Given the description of an element on the screen output the (x, y) to click on. 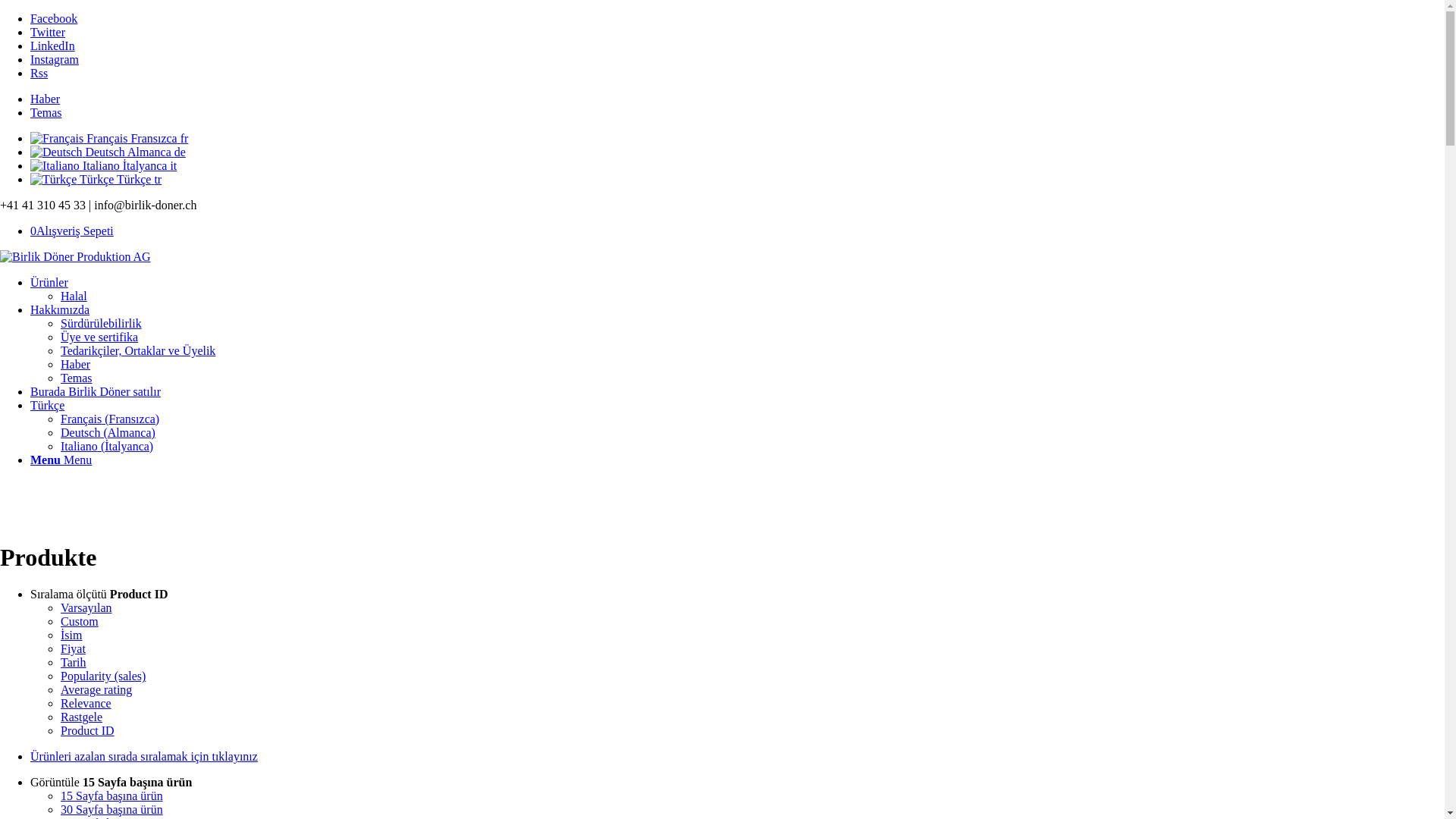
Facebook Element type: text (53, 18)
Menu Menu Element type: text (60, 459)
Twitter Element type: text (47, 31)
Rastgele Element type: text (81, 716)
Average rating Element type: text (95, 689)
Temas Element type: text (46, 112)
Fiyat Element type: text (72, 648)
Deutsch Element type: hover (55, 152)
Relevance Element type: text (85, 702)
Haber Element type: text (44, 98)
Rss Element type: text (38, 72)
Haber Element type: text (75, 363)
LinkedIn Element type: text (52, 45)
Temas Element type: text (76, 377)
Popularity (sales) Element type: text (102, 675)
Product ID Element type: text (87, 730)
Deutsch Almanca de Element type: text (107, 151)
Italiano Element type: hover (54, 165)
Instagram Element type: text (54, 59)
Tarih Element type: text (73, 661)
Custom Element type: text (79, 621)
Halal Element type: text (73, 295)
Deutsch (Almanca) Element type: text (107, 432)
Logo-Billik Element type: hover (75, 256)
